Given the description of an element on the screen output the (x, y) to click on. 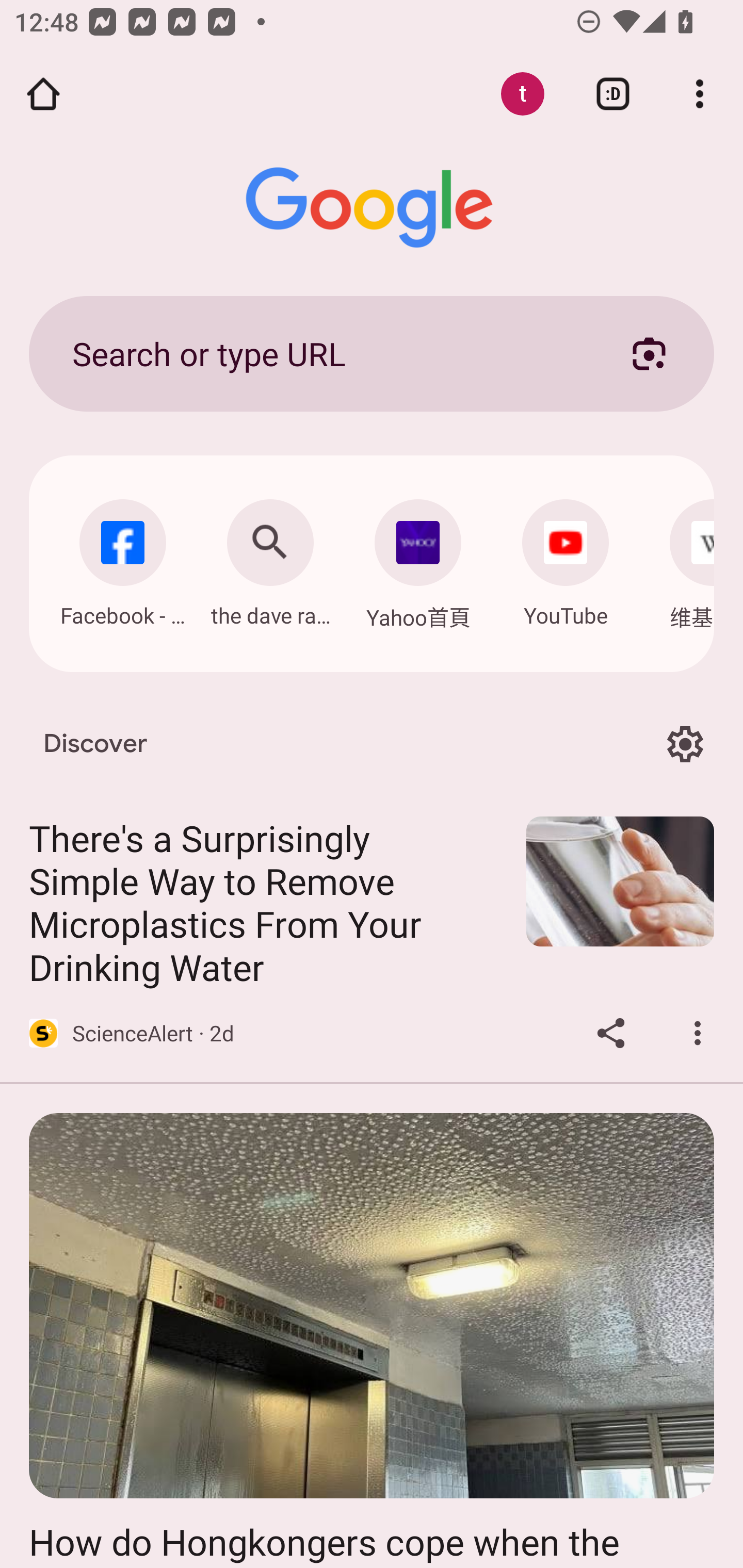
Open the home page (43, 93)
Switch or close tabs (612, 93)
Customize and control Google Chrome (699, 93)
Search or type URL (327, 353)
Search with your camera using Google Lens (648, 353)
Search: the dave ramsey show the dave ramsey show (270, 558)
Navigate: Yahoo首頁: hk.mobi.yahoo.com Yahoo首頁 (417, 558)
Navigate: YouTube: m.youtube.com YouTube (565, 558)
Options for Discover (684, 743)
